Given the description of an element on the screen output the (x, y) to click on. 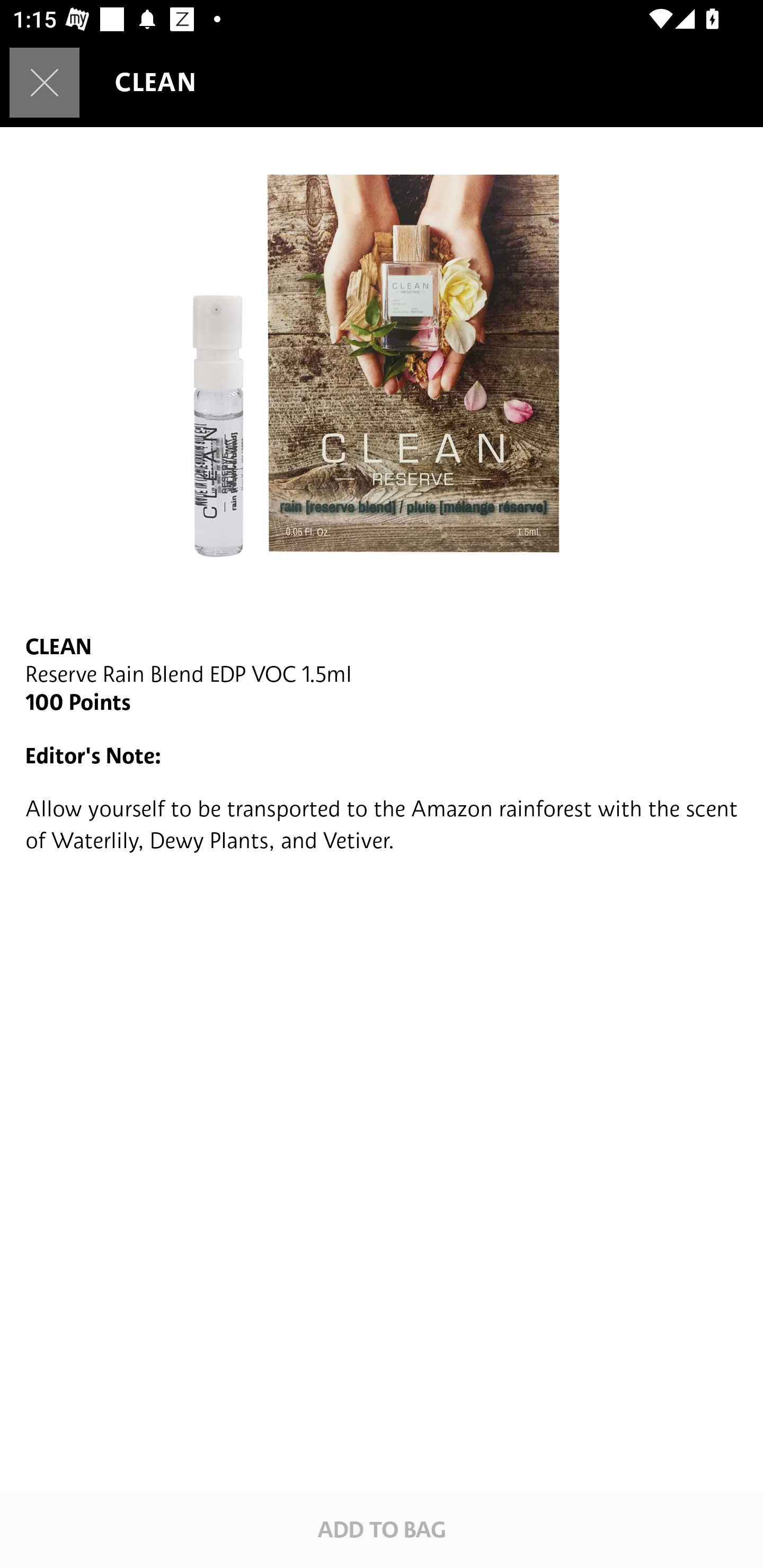
ADD TO BAG (381, 1529)
